Given the description of an element on the screen output the (x, y) to click on. 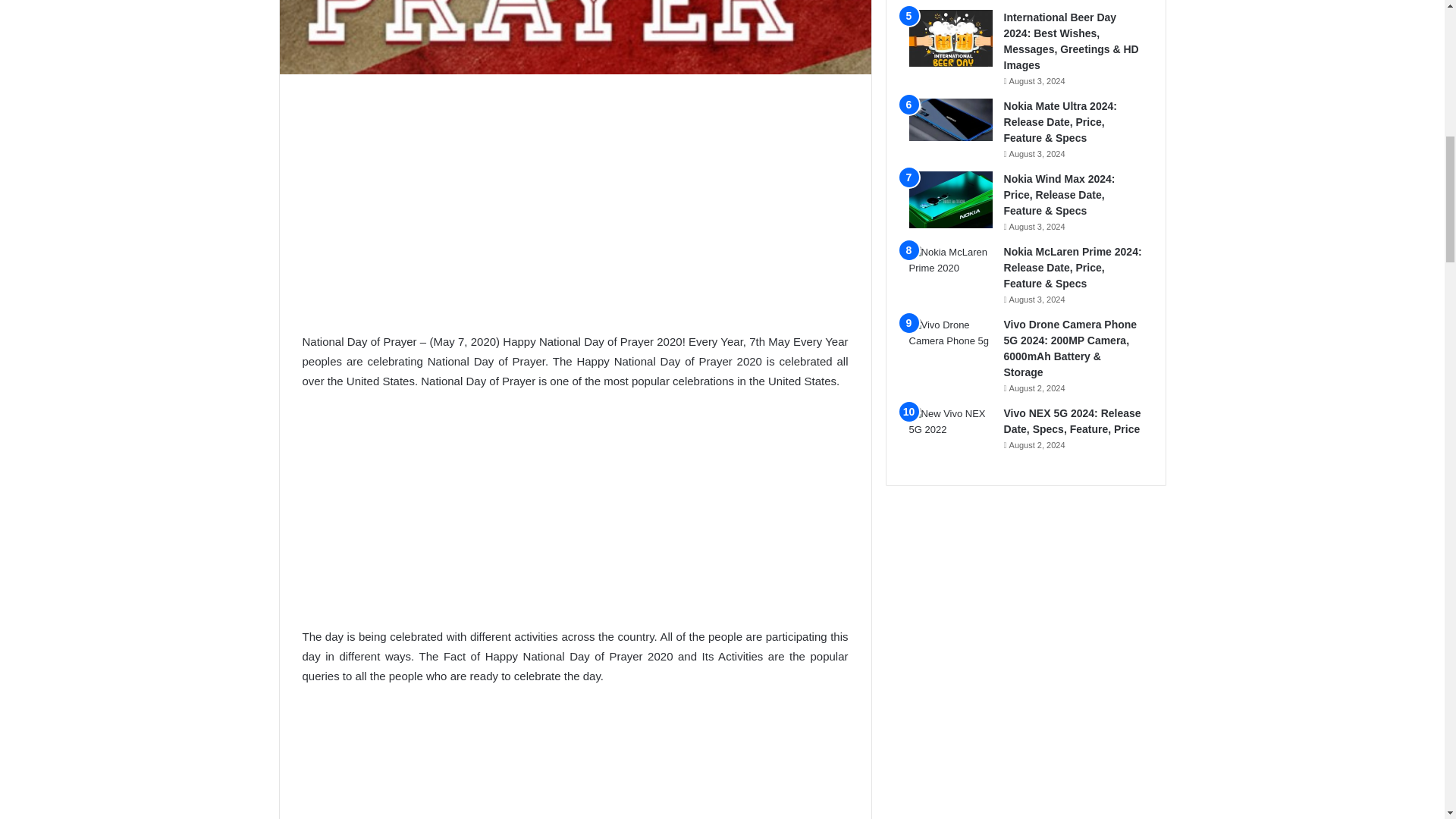
Advertisement (574, 762)
Advertisement (574, 203)
Advertisement (574, 516)
